Given the description of an element on the screen output the (x, y) to click on. 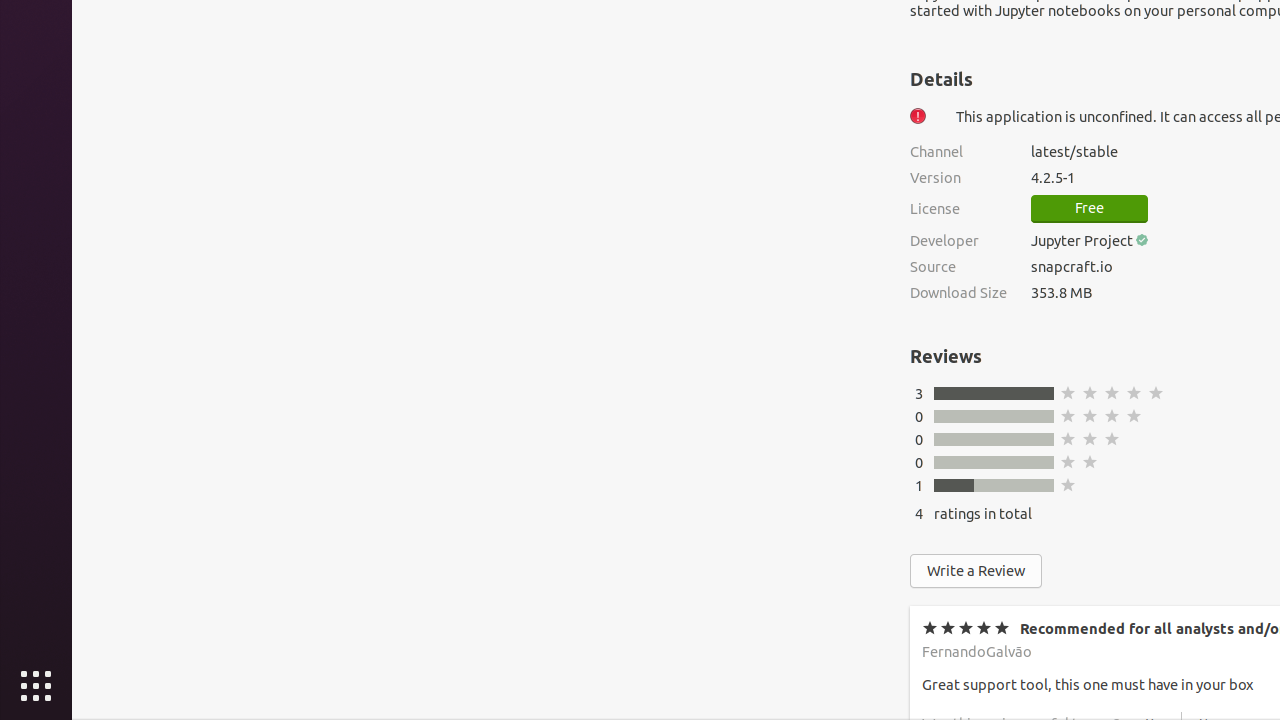
Download Size Element type: label (958, 292)
Free Element type: push-button (1089, 209)
